Given the description of an element on the screen output the (x, y) to click on. 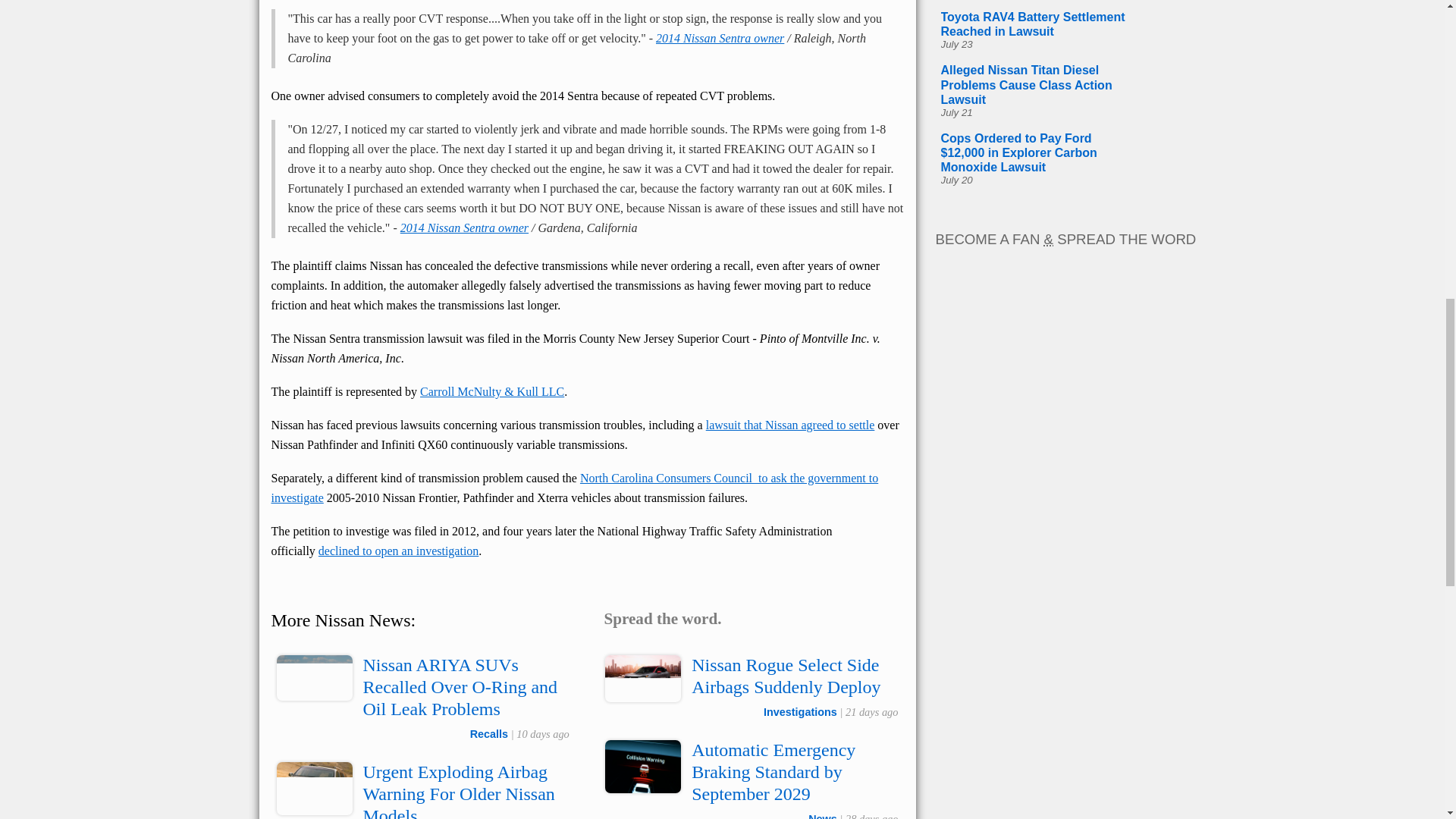
2014 Nissan Sentra owner (720, 38)
Email this page (807, 618)
Share on Facebook (743, 618)
lawsuit that Nissan agreed to settle (790, 424)
Nissan Rogue Select Side Airbags Suddenly Deploy (785, 675)
Investigations (799, 711)
Share on Twitter (775, 618)
Nissan ARIYA SUVs Recalled Over O-Ring and Oil Leak Problems (459, 687)
declined to open an investigation (398, 550)
2014 Nissan Sentra owner (464, 227)
Recalls (489, 734)
